Given the description of an element on the screen output the (x, y) to click on. 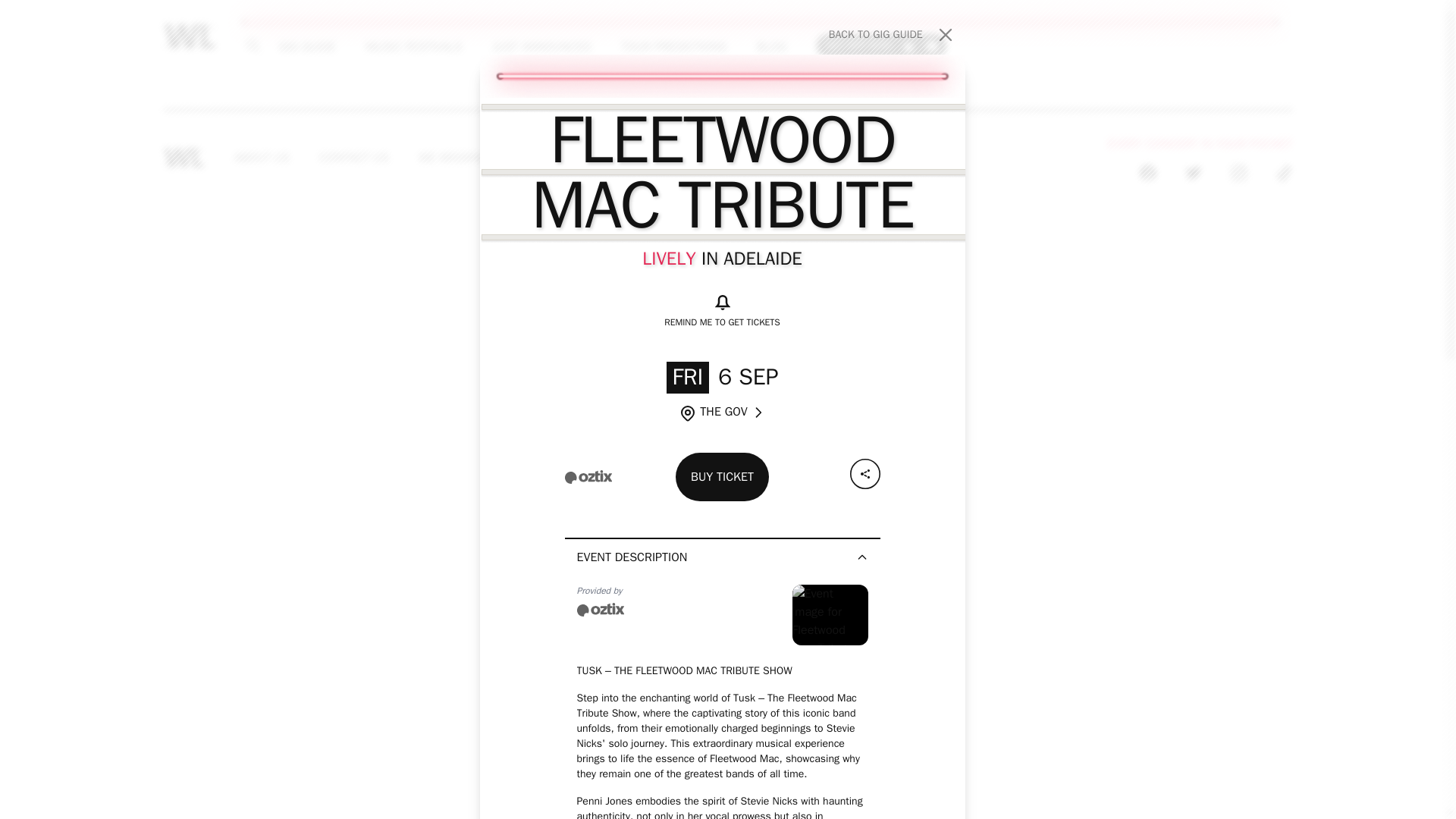
CONTACT US (892, 34)
GIG GUIDE (354, 157)
TOUR PREDICTIONS (306, 45)
MUSIC FESTIVALS (673, 45)
ADVERTISE YOUR TOUR (413, 45)
WE MISSING A GIG? (619, 157)
MARKETING AGENCY (472, 157)
GET APP NOW (768, 157)
BLOG (881, 44)
